Given the description of an element on the screen output the (x, y) to click on. 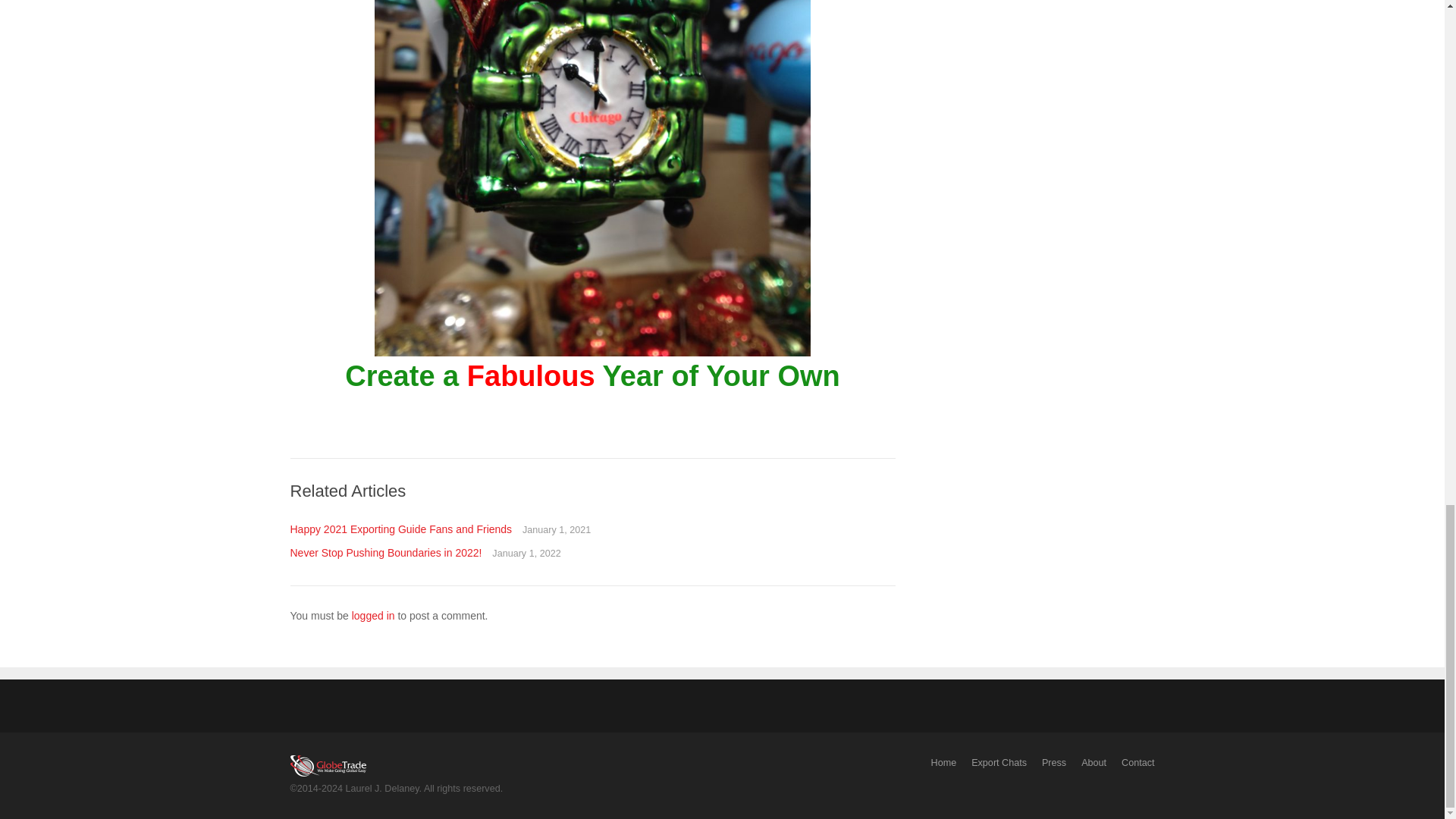
Press (1053, 762)
About (1093, 762)
Export Chats (998, 762)
logged in (373, 615)
Contact (1137, 762)
Happy 2021 Exporting Guide Fans and Friends (400, 529)
Home (943, 762)
Never Stop Pushing Boundaries in 2022! (385, 552)
